Given the description of an element on the screen output the (x, y) to click on. 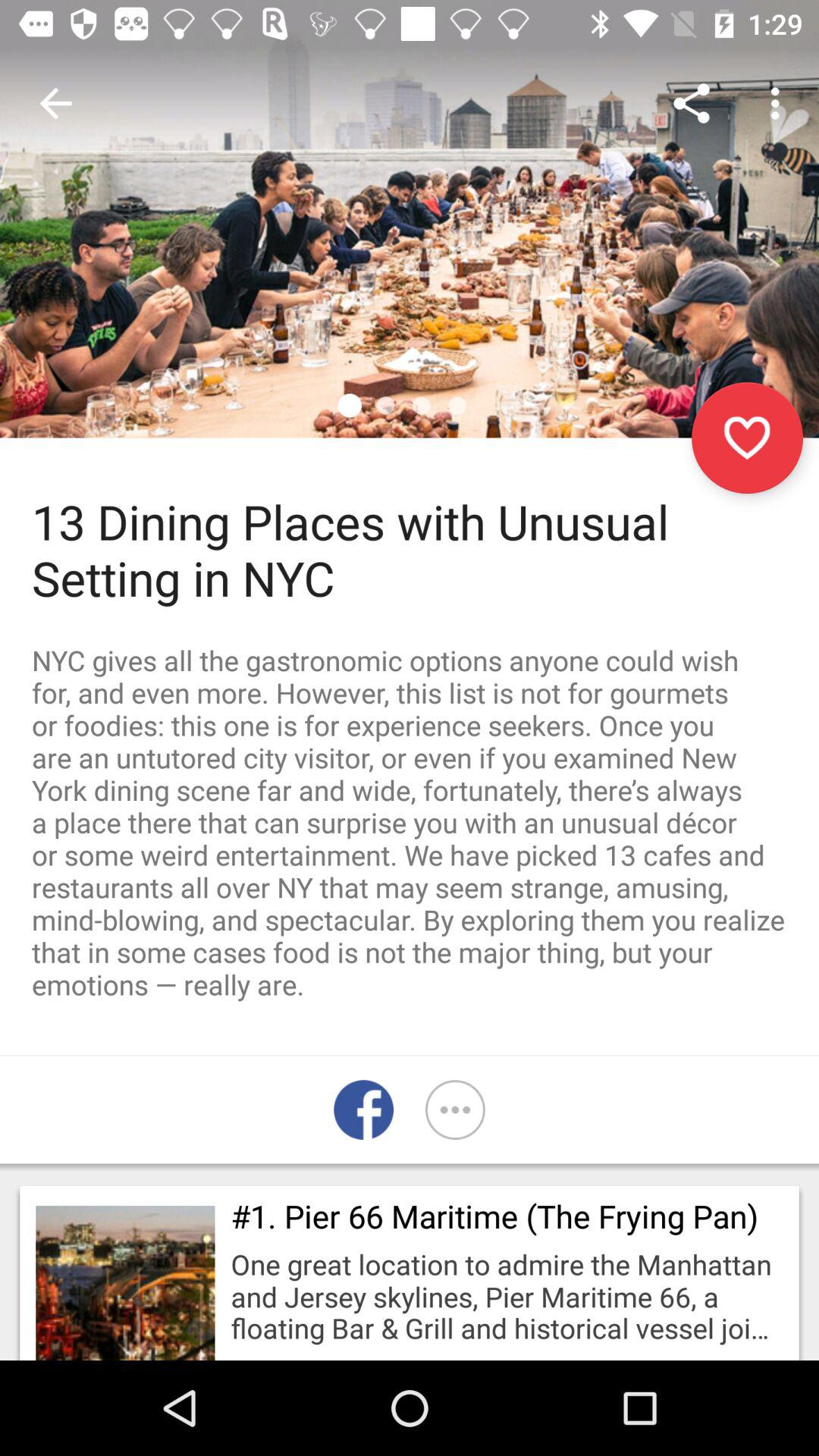
more options (455, 1109)
